Given the description of an element on the screen output the (x, y) to click on. 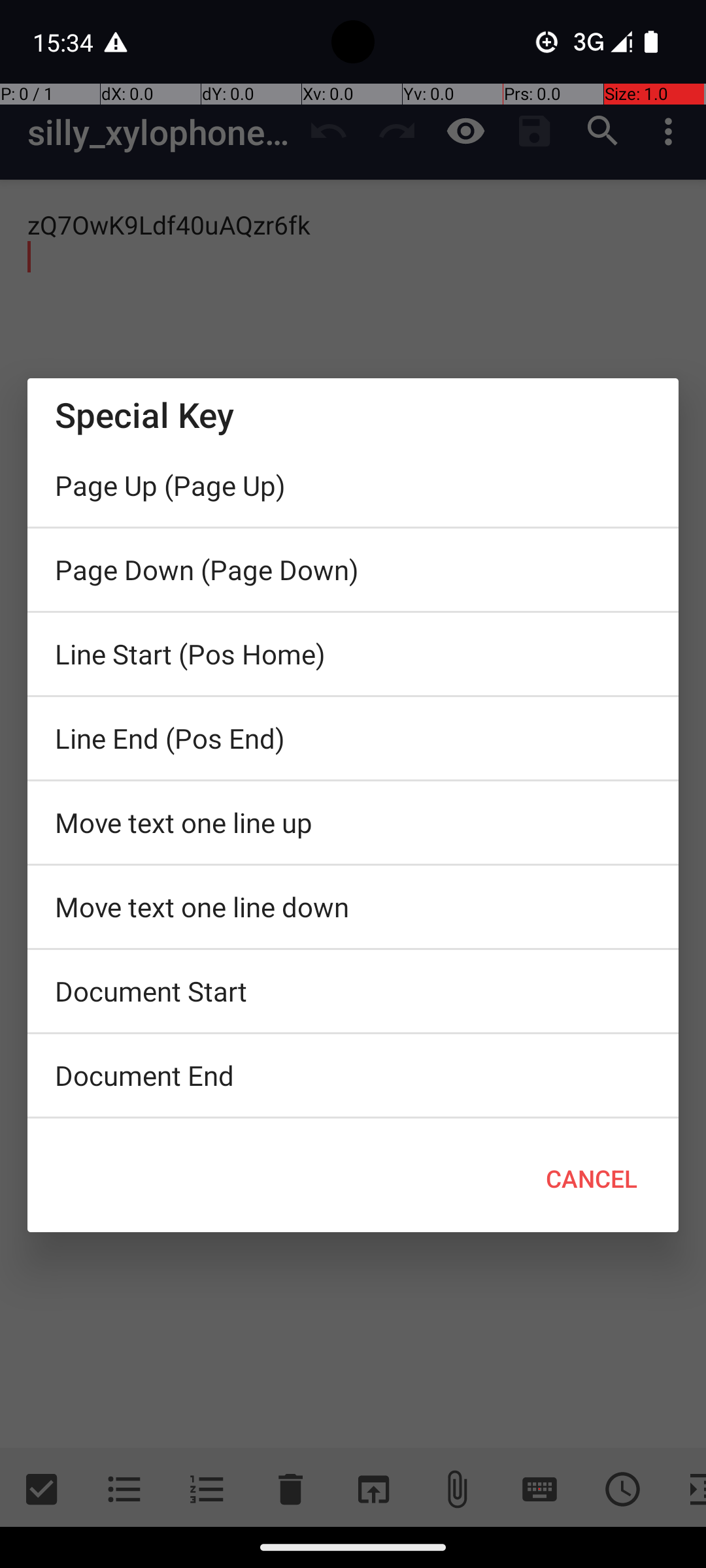
Page Up (Page Up) Element type: android.widget.TextView (352, 485)
Page Down (Page Down) Element type: android.widget.TextView (352, 569)
Line Start (Pos Home) Element type: android.widget.TextView (352, 653)
Line End (Pos End) Element type: android.widget.TextView (352, 738)
Move text one line up Element type: android.widget.TextView (352, 822)
Move text one line down Element type: android.widget.TextView (352, 906)
Document Start Element type: android.widget.TextView (352, 990)
Document End Element type: android.widget.TextView (352, 1075)
Select all (Ctrl+A) Element type: android.widget.TextView (352, 1121)
